Given the description of an element on the screen output the (x, y) to click on. 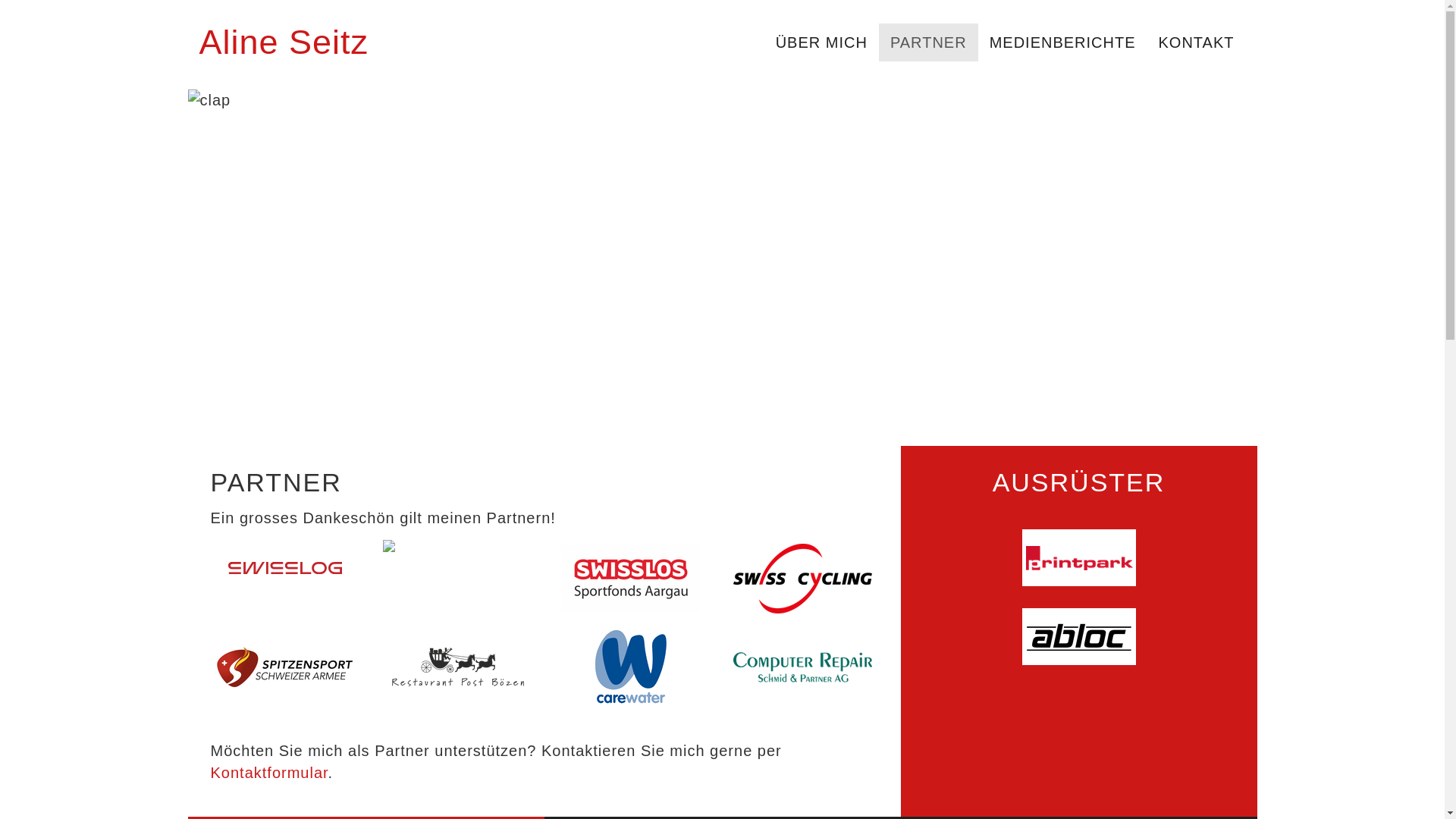
KONTAKT Element type: text (1196, 42)
MEDIENBERICHTE Element type: text (1062, 42)
Kontaktformular Element type: text (269, 772)
Aline Seitz Element type: text (284, 42)
PARTNER Element type: text (928, 42)
